Given the description of an element on the screen output the (x, y) to click on. 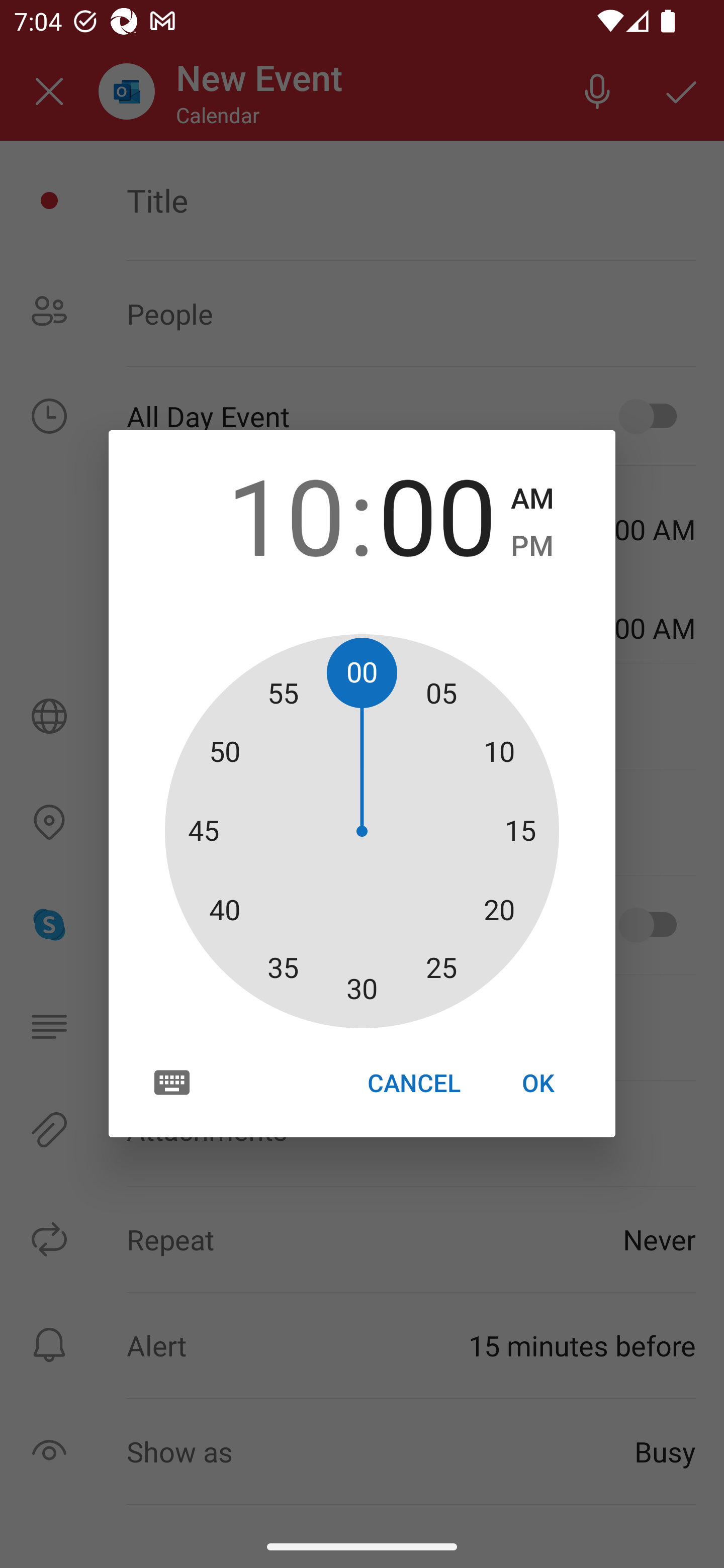
10 (285, 513)
00 (436, 513)
AM (532, 498)
PM (532, 546)
CANCEL (413, 1082)
OK (537, 1082)
Switch to text input mode for the time input. (171, 1081)
